Given the description of an element on the screen output the (x, y) to click on. 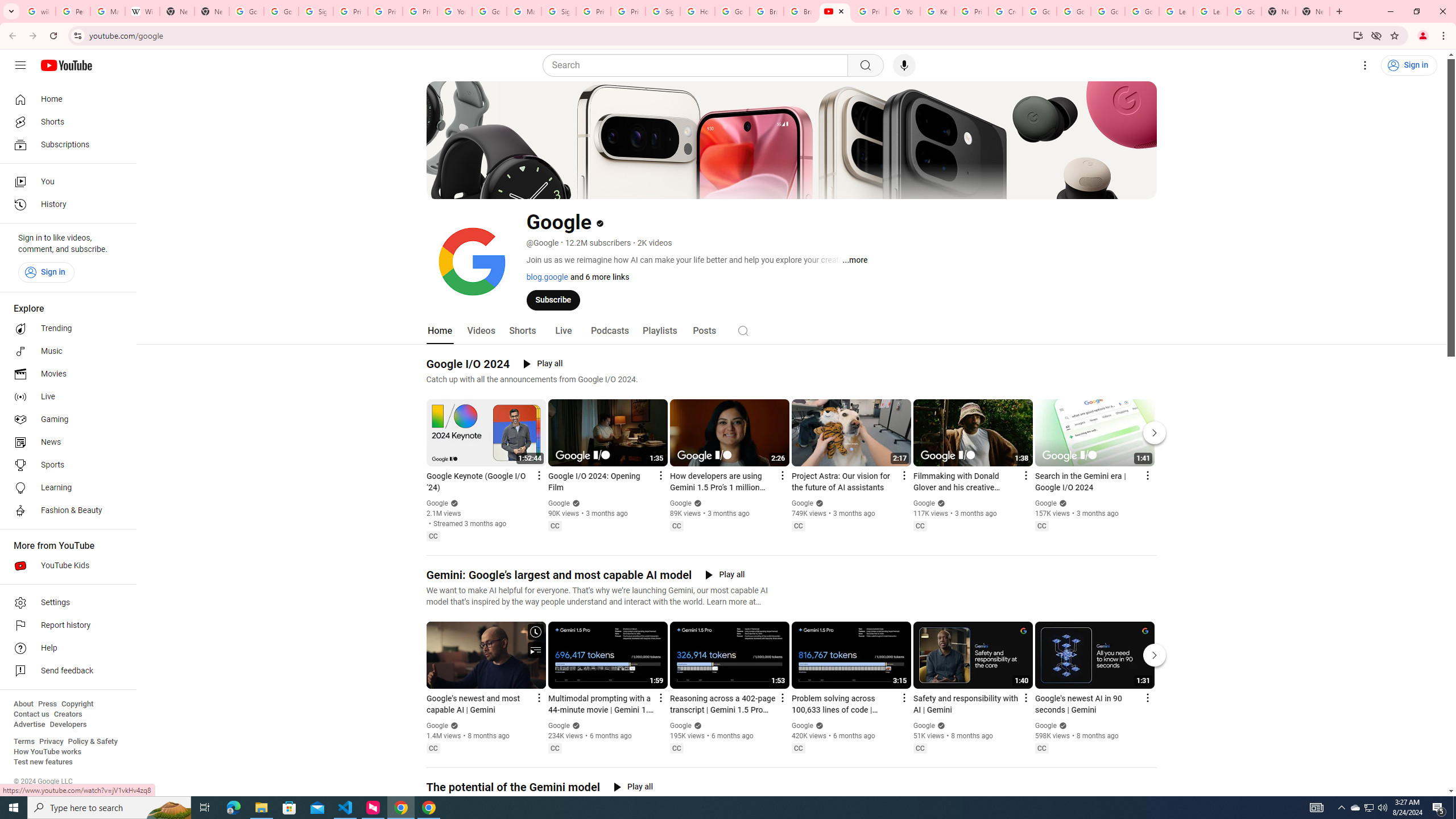
New Tab (1278, 11)
Posts (703, 330)
Developers (68, 724)
Subscriptions (64, 144)
New Tab (1312, 11)
Trending (64, 328)
Send feedback (64, 671)
Closed captions (1041, 748)
